Given the description of an element on the screen output the (x, y) to click on. 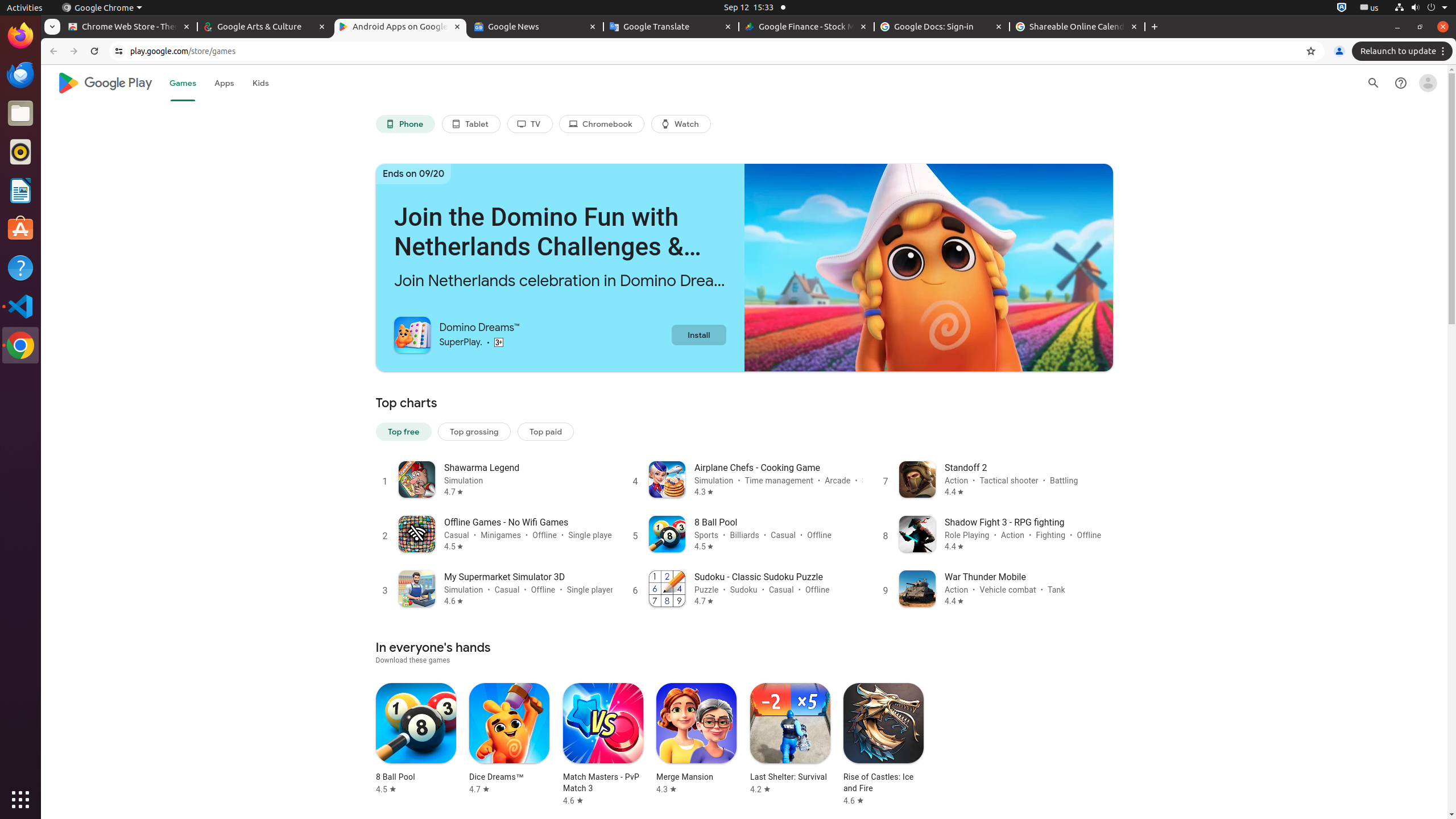
Rank 7 Standoff 2 Action • Tactical shooter • Battling Rated 4.4 stars out of five stars Element type: link (994, 478)
Tablet Element type: link (470, 123)
Domino Dreams™ SuperPlay. Content rating Rated for 3+ Element type: link (532, 334)
Google Arts & Culture - Memory usage - 86.5 MB Element type: page-tab (264, 26)
Watch Element type: link (681, 123)
